Given the description of an element on the screen output the (x, y) to click on. 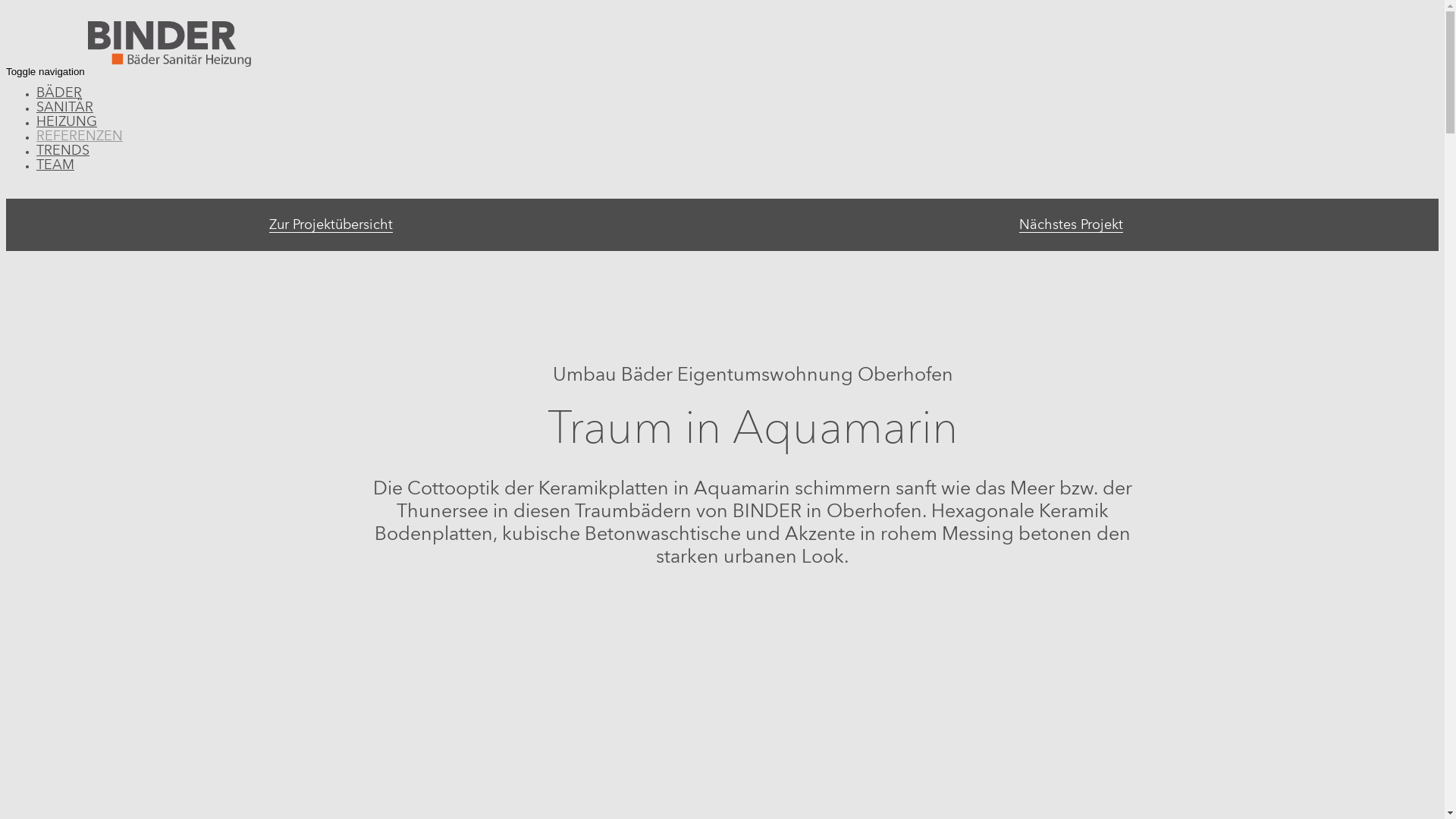
TEAM Element type: text (55, 161)
TRENDS Element type: text (62, 146)
Toggle navigation Element type: text (45, 71)
HEIZUNG Element type: text (66, 118)
REFERENZEN Element type: text (79, 132)
